Given the description of an element on the screen output the (x, y) to click on. 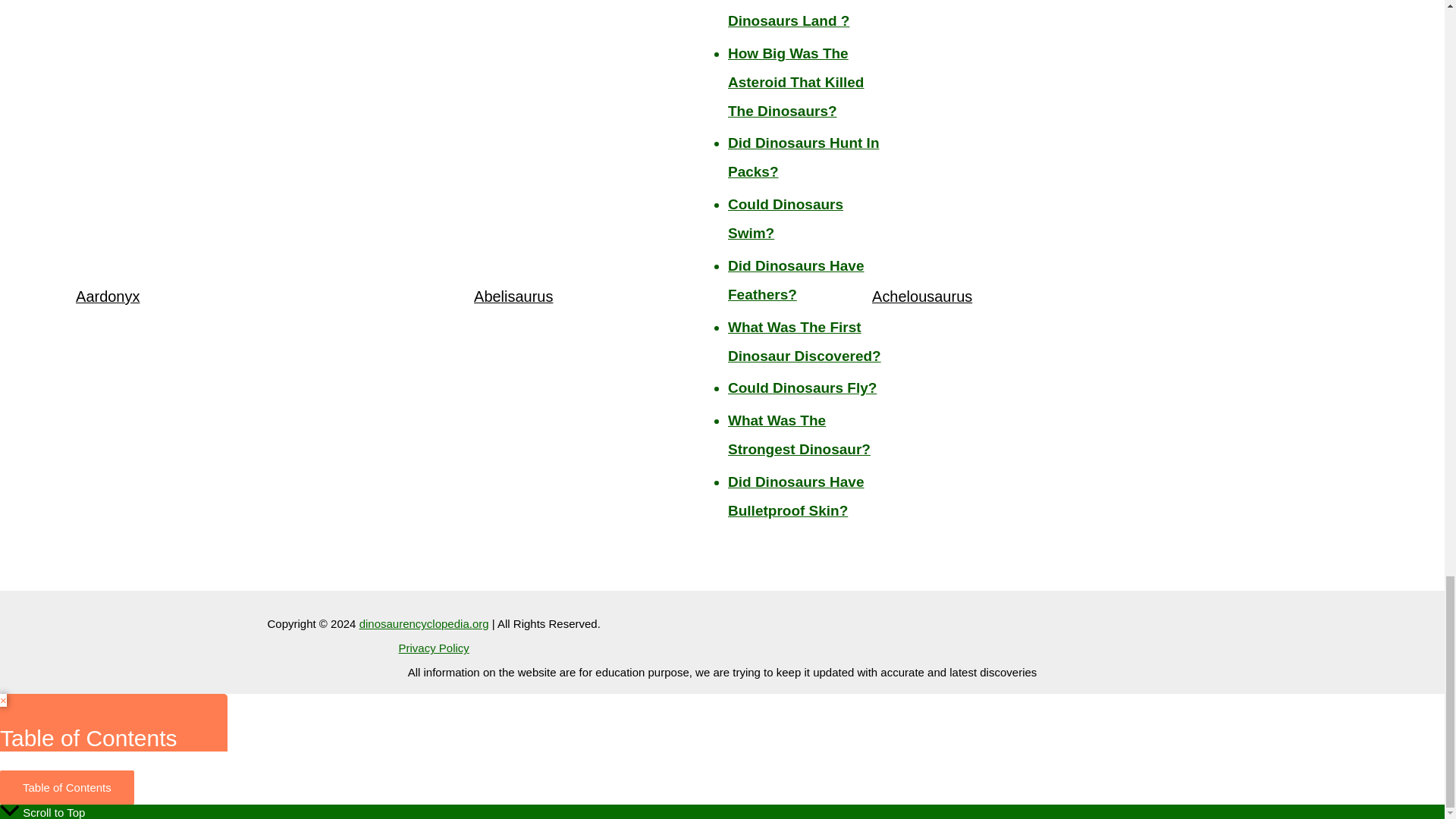
Achelousaurus (922, 296)
Abelisaurus (513, 296)
Aardonyx (107, 296)
